Given the description of an element on the screen output the (x, y) to click on. 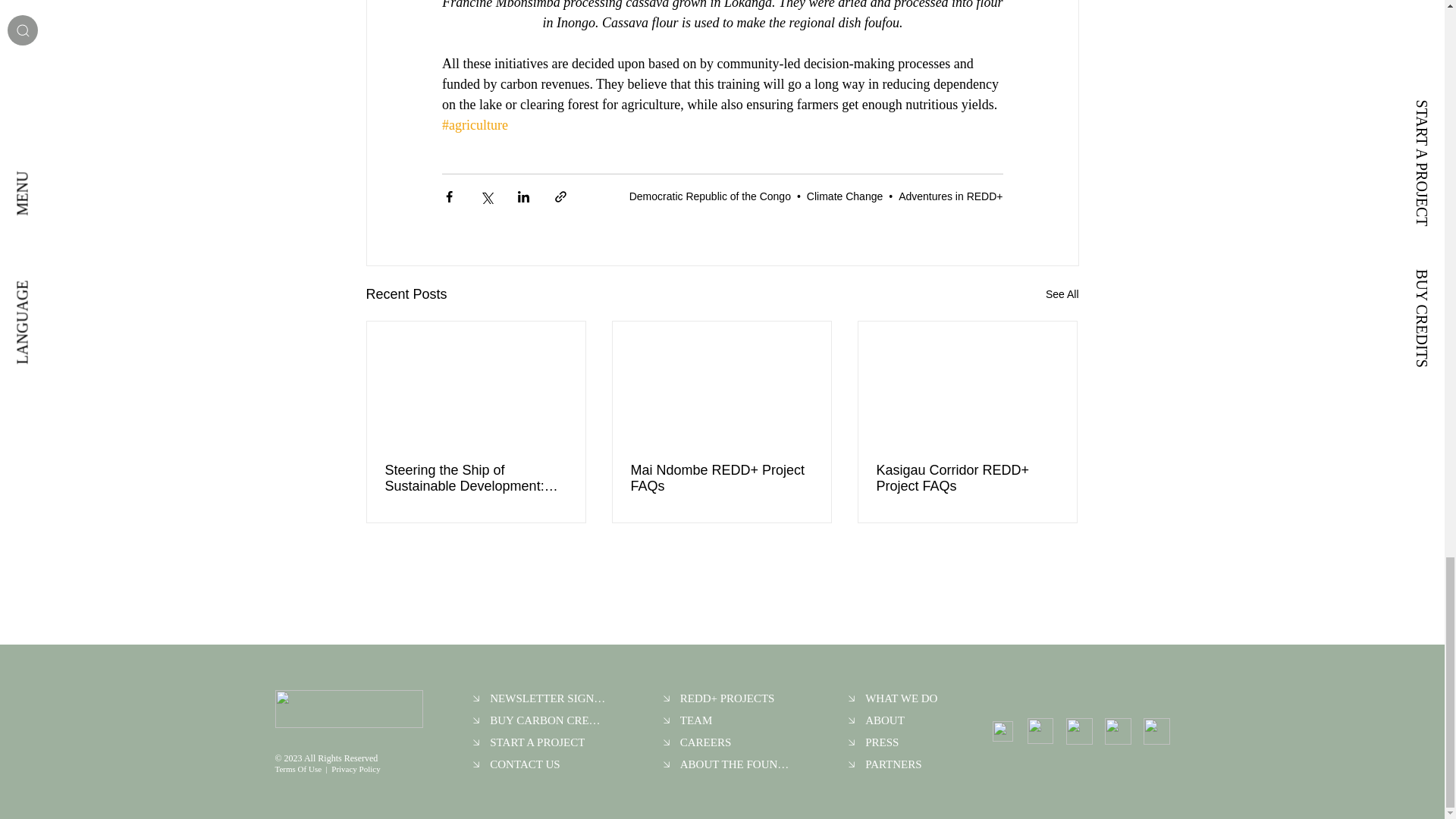
BUY CARBON CREDITS (540, 720)
PARTNERS (893, 764)
Democratic Republic of the Congo (709, 196)
ABOUT (893, 720)
Climate Change (844, 196)
Privacy Policy (355, 768)
ABOUT THE FOUNDER (729, 764)
CONTACT US (540, 764)
START A PROJECT (540, 742)
WHAT WE DO (893, 698)
